Given the description of an element on the screen output the (x, y) to click on. 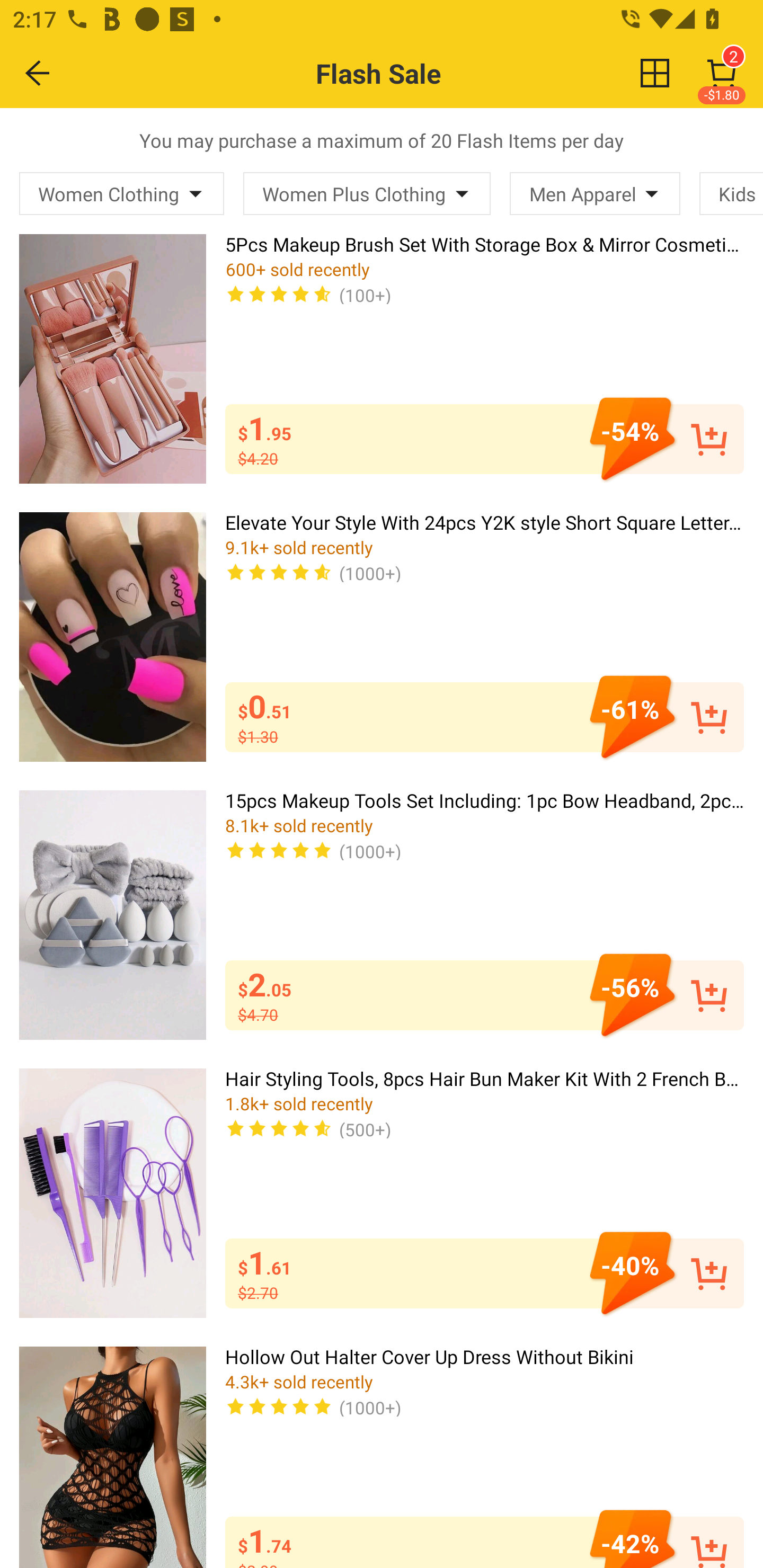
Flash Sale change view 2 -$1.80 (419, 72)
2 -$1.80 (721, 72)
change view (654, 72)
BACK (38, 72)
Women Clothing (121, 193)
Women Plus Clothing (366, 193)
Men Apparel (594, 193)
Kids (731, 193)
Hollow Out Halter Cover Up Dress Without Bikini (112, 1457)
